Given the description of an element on the screen output the (x, y) to click on. 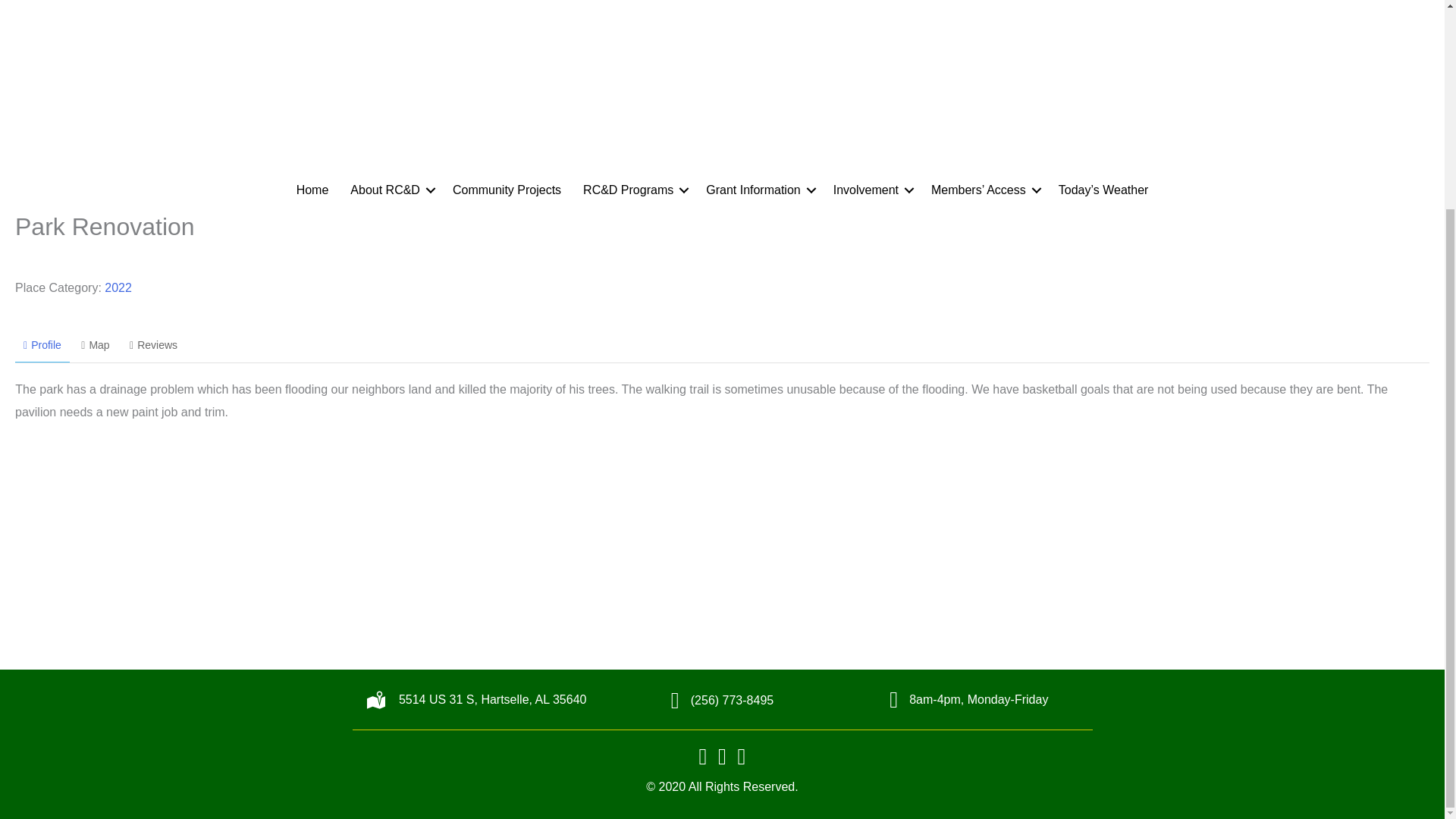
Reviews (153, 345)
Grant Information (758, 190)
Map (94, 345)
2022 (118, 287)
Involvement (871, 190)
Community Projects (507, 190)
Home (312, 190)
Profile (41, 346)
